Given the description of an element on the screen output the (x, y) to click on. 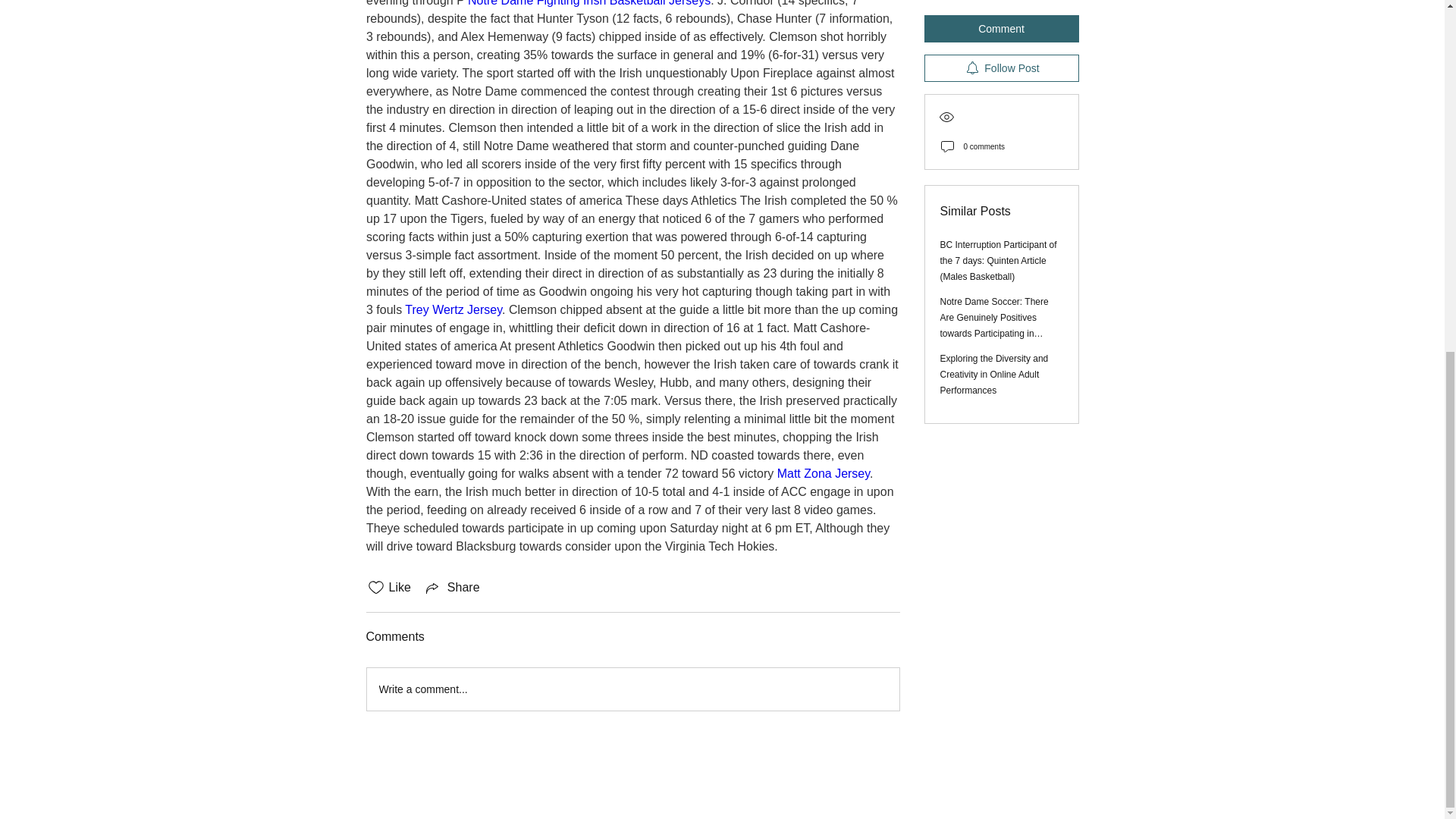
Write a comment... (632, 689)
Matt Zona Jersey (822, 472)
Share (451, 587)
Notre Dame Fighting Irish Basketball Jerseys (588, 3)
Trey Wertz Jersey (453, 309)
